Given the description of an element on the screen output the (x, y) to click on. 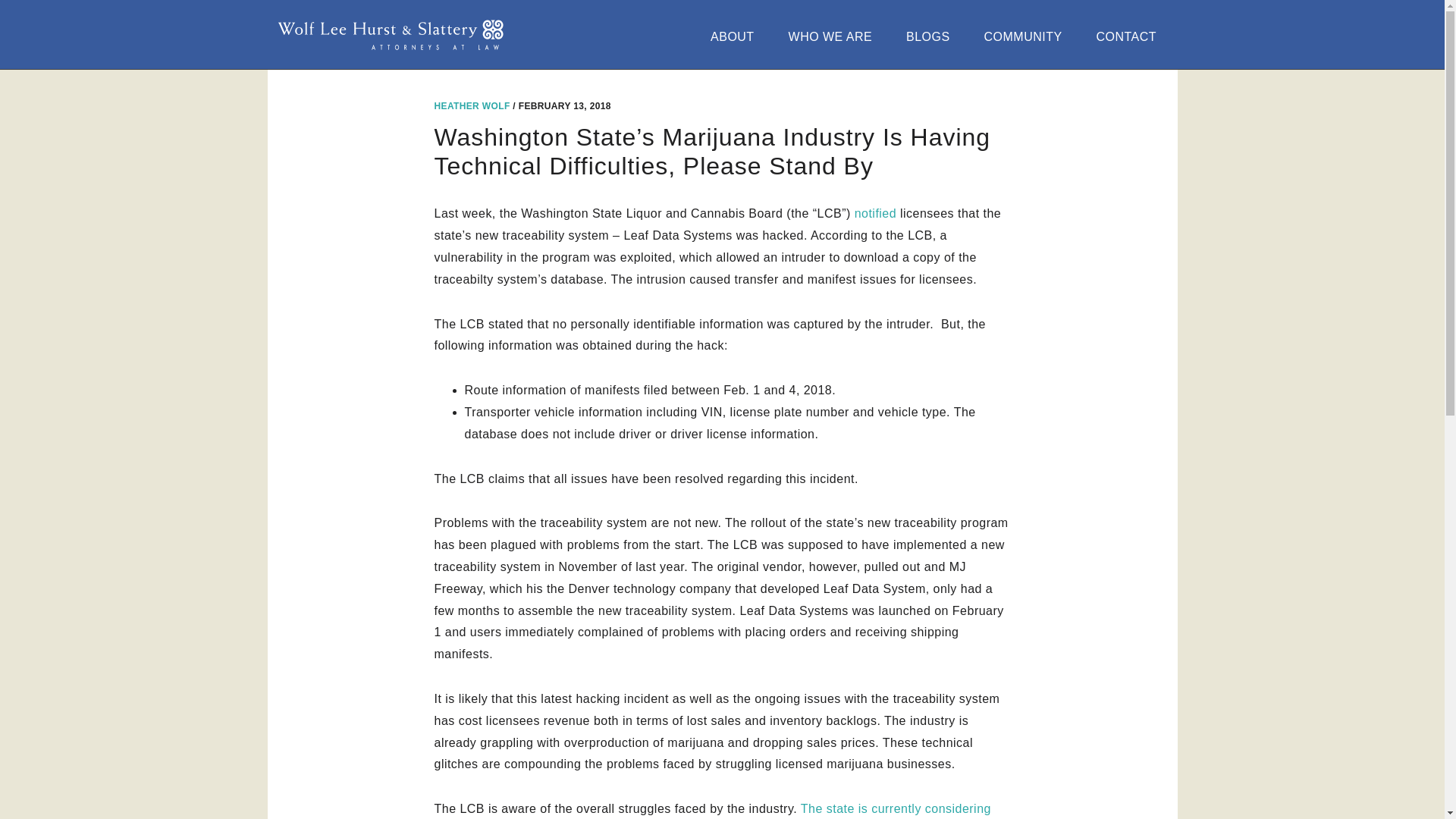
COMMUNITY (1026, 36)
Community (1026, 36)
Contact (1129, 36)
BLOGS (932, 36)
WHO WE ARE (834, 36)
About (735, 36)
Blogs (932, 36)
CONTACT (1129, 36)
notified (875, 213)
ABOUT (735, 36)
HEATHER WOLF (471, 105)
